Given the description of an element on the screen output the (x, y) to click on. 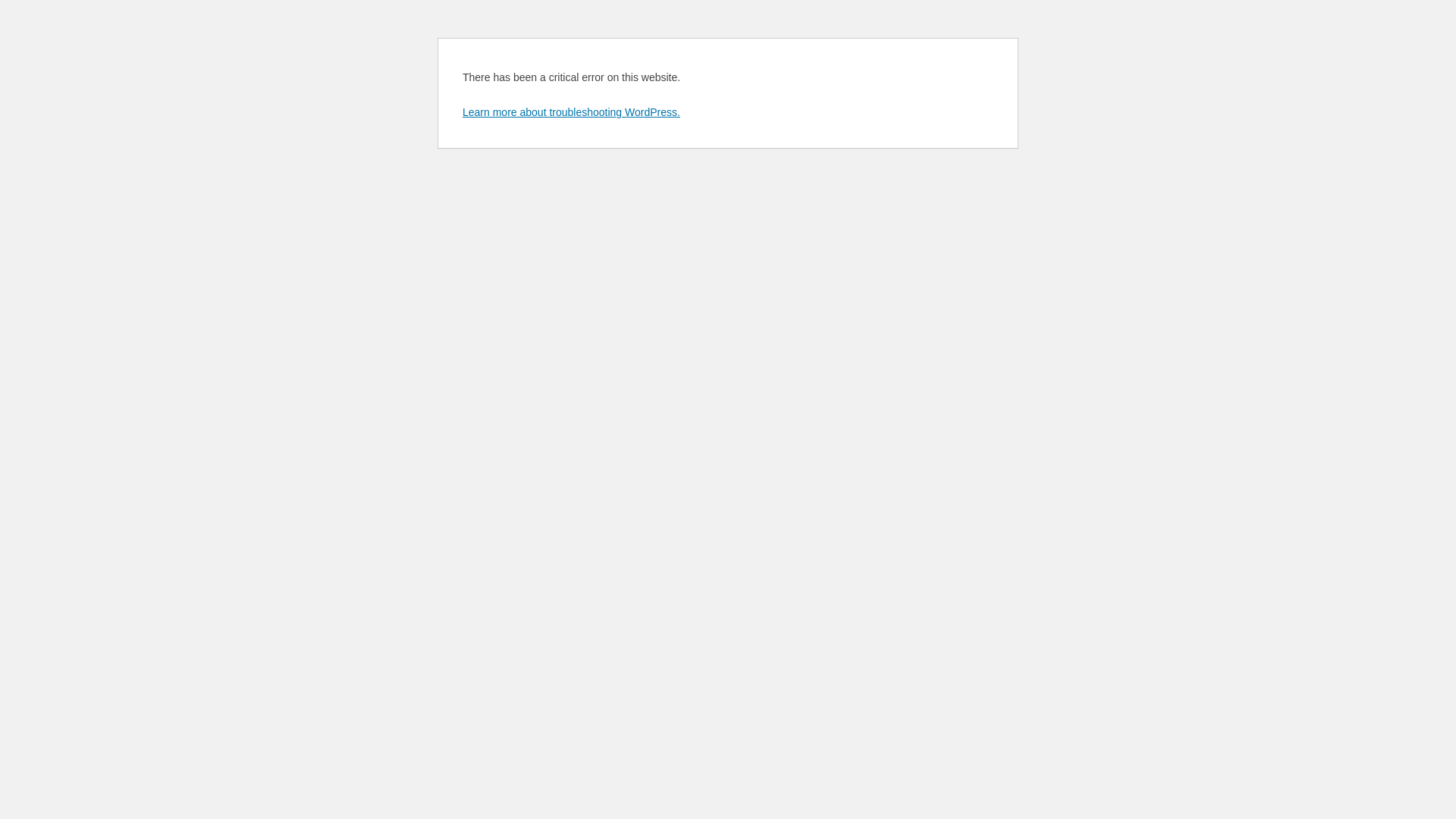
Learn more about troubleshooting WordPress. Element type: text (571, 112)
